Given the description of an element on the screen output the (x, y) to click on. 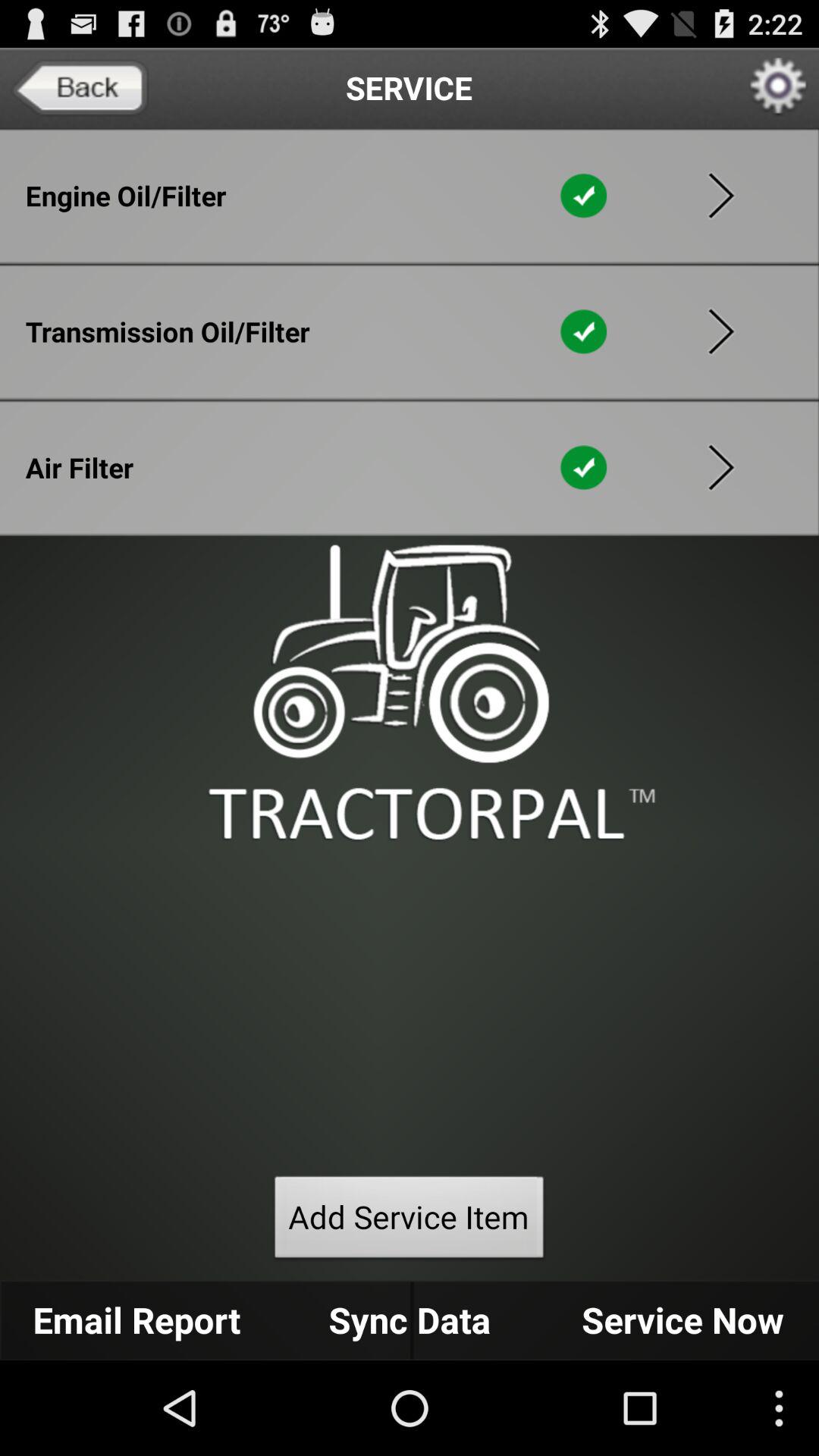
show more (721, 331)
